Given the description of an element on the screen output the (x, y) to click on. 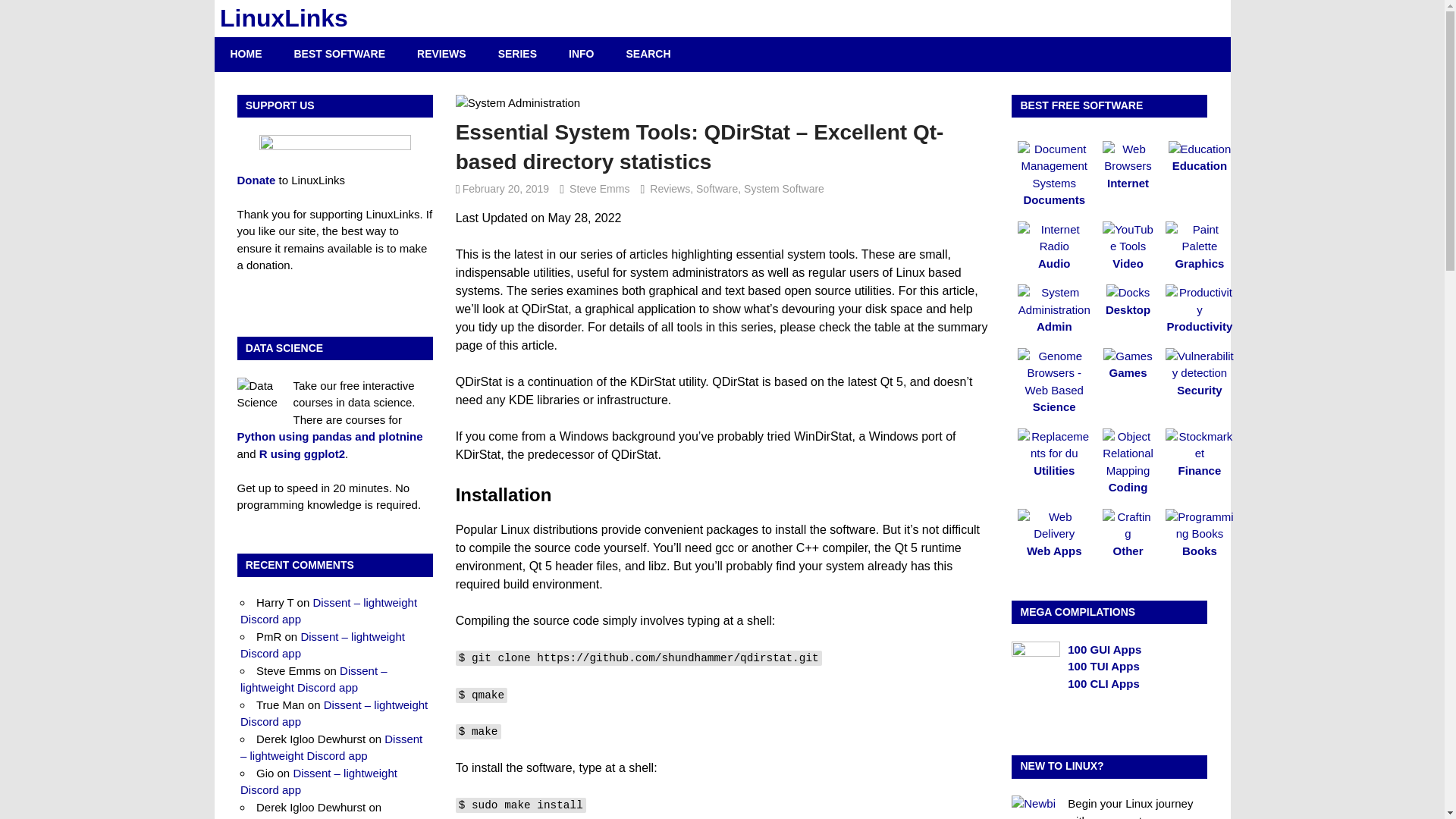
LinuxLinks (283, 17)
INFO (581, 53)
System Software (784, 188)
1:06 pm (505, 188)
BEST SOFTWARE (339, 53)
View all posts by Steve Emms (598, 188)
REVIEWS (441, 53)
Reviews (669, 188)
Software (716, 188)
HOME (246, 53)
